Given the description of an element on the screen output the (x, y) to click on. 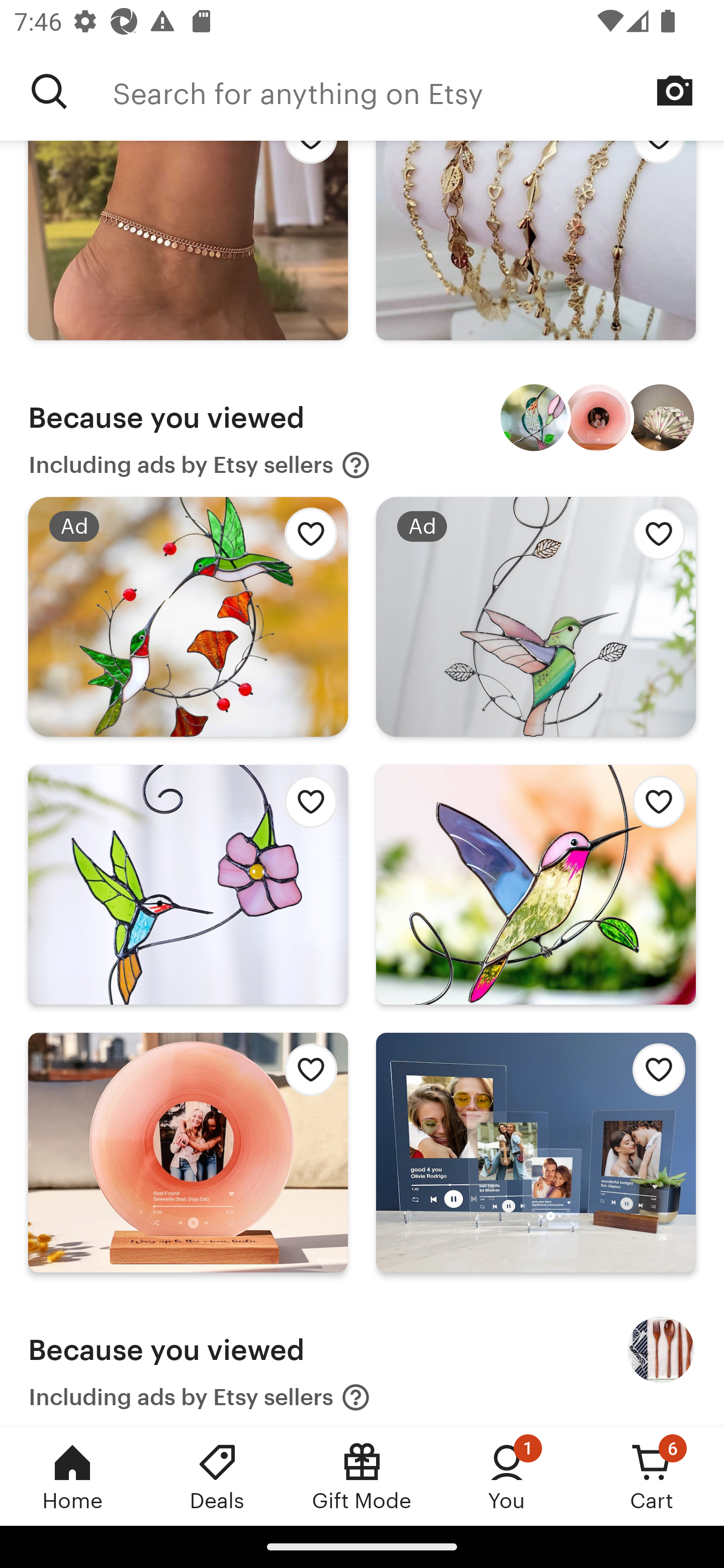
Search for anything on Etsy (49, 91)
Search by image (674, 90)
Search for anything on Etsy (418, 91)
Including ads by Etsy sellers (199, 465)
Including ads by Etsy sellers (199, 1395)
Deals (216, 1475)
Gift Mode (361, 1475)
You, 1 new notification You (506, 1475)
Cart, 6 new notifications Cart (651, 1475)
